Given the description of an element on the screen output the (x, y) to click on. 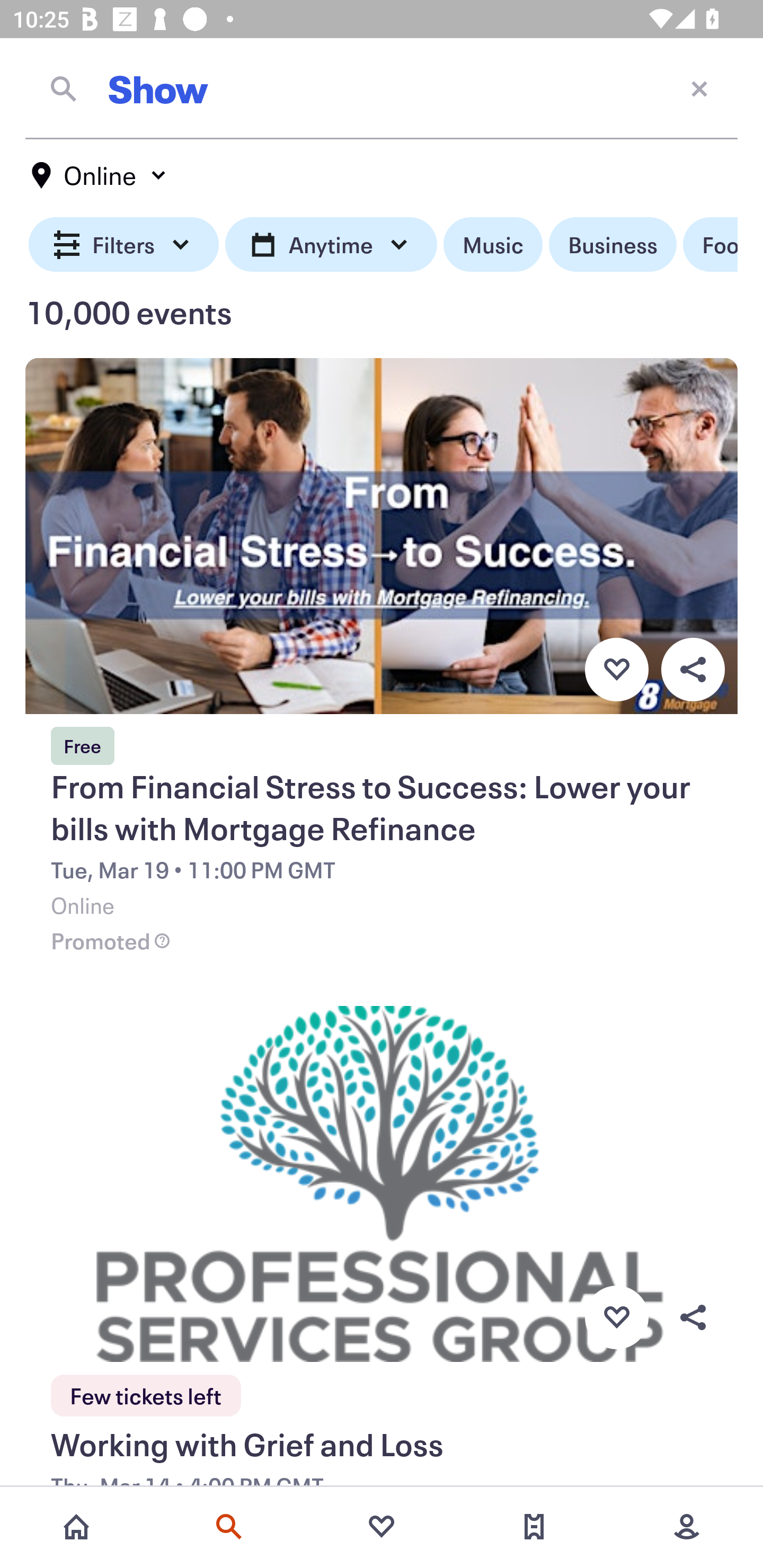
Show Close current screen (381, 88)
Close current screen (699, 88)
Online (99, 175)
Filters (123, 244)
Anytime (331, 244)
Music (492, 244)
Business (612, 244)
Favorite button (616, 669)
Overflow menu button (692, 669)
Favorite button (616, 1317)
Overflow menu button (692, 1317)
Home (76, 1526)
Search events (228, 1526)
Favorites (381, 1526)
Tickets (533, 1526)
More (686, 1526)
